Given the description of an element on the screen output the (x, y) to click on. 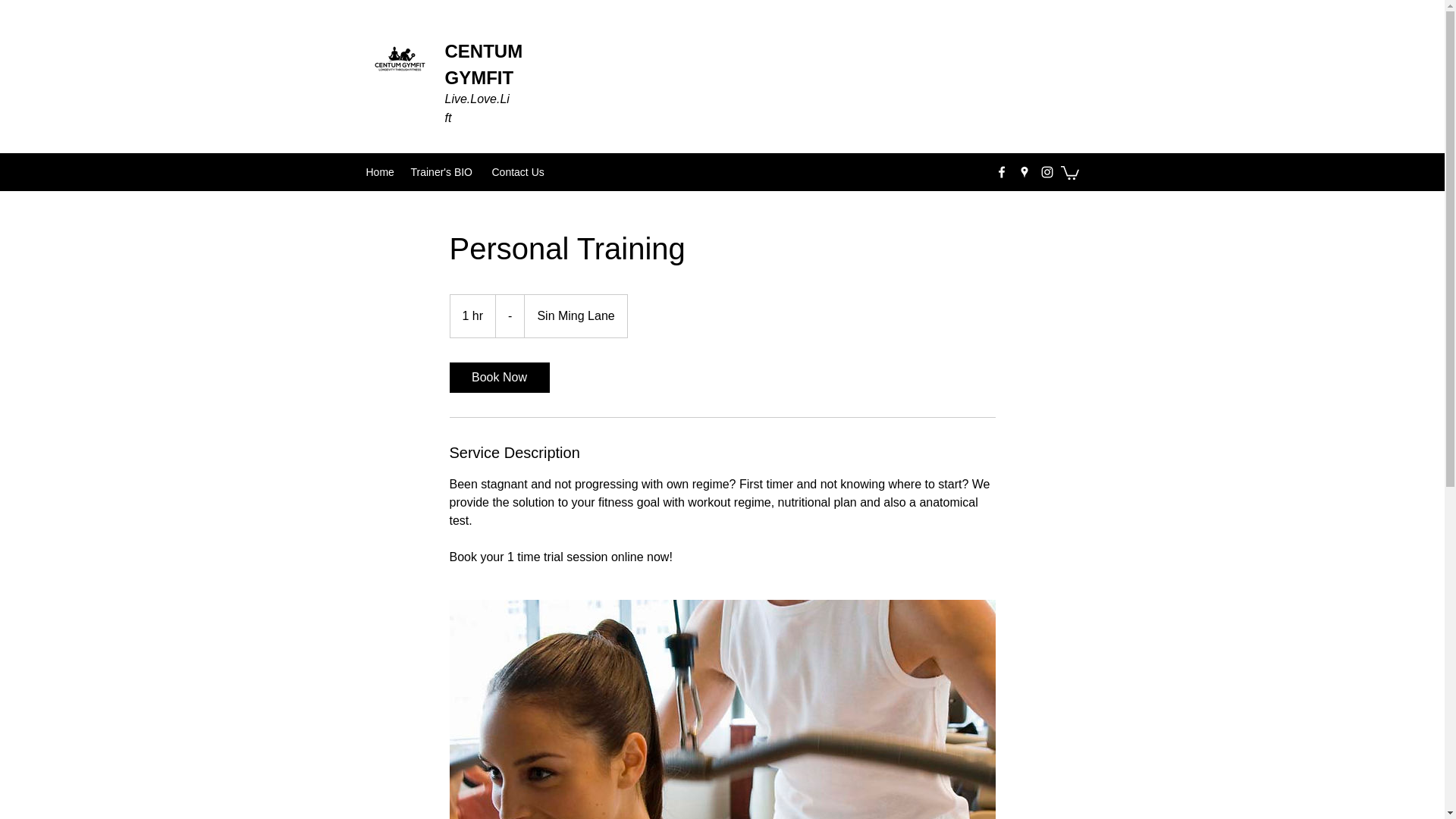
Home (380, 171)
Trainer's BIO (443, 171)
Contact Us (518, 171)
Book Now (498, 377)
